Given the description of an element on the screen output the (x, y) to click on. 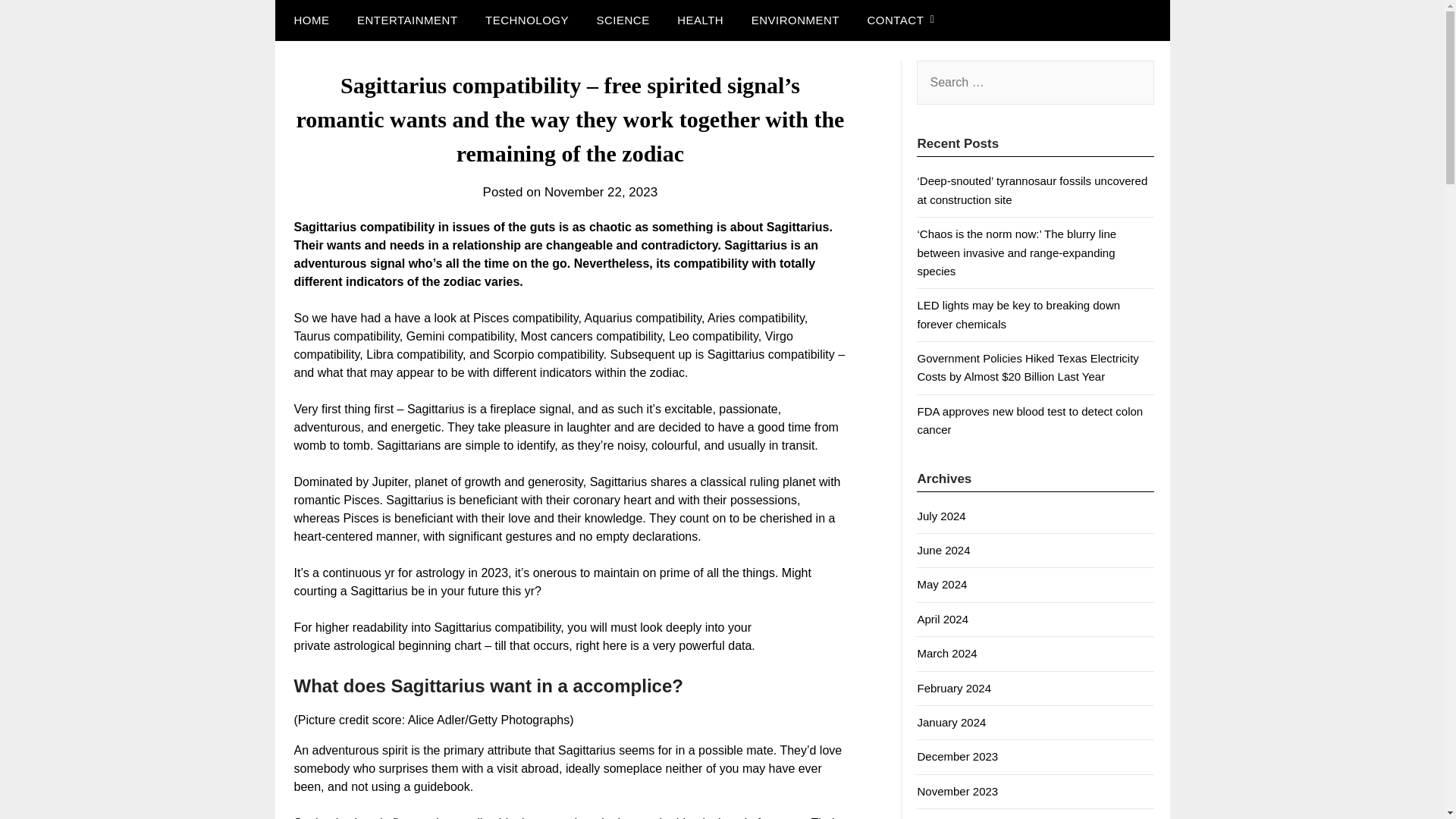
HEALTH (700, 20)
May 2024 (941, 584)
Search (38, 22)
ENTERTAINMENT (407, 20)
June 2024 (943, 549)
FDA approves new blood test to detect colon cancer (1029, 419)
November 2023 (957, 790)
March 2024 (946, 653)
LED lights may be key to breaking down forever chemicals (1018, 314)
HOME (307, 20)
CONTACT (895, 20)
January 2024 (951, 721)
TECHNOLOGY (526, 20)
July 2024 (941, 515)
February 2024 (954, 687)
